Given the description of an element on the screen output the (x, y) to click on. 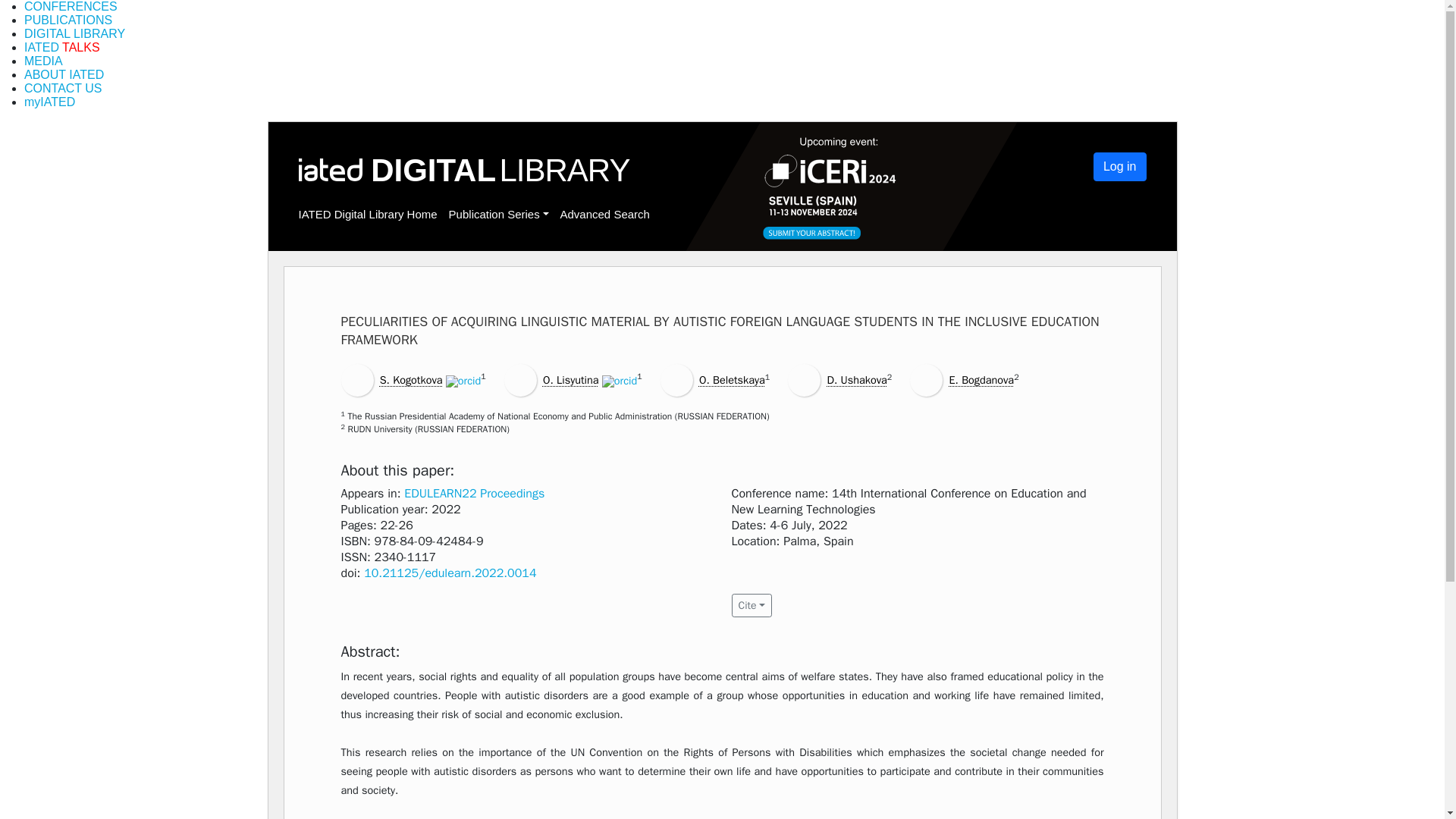
MEDIA (43, 60)
ABOUT IATED (63, 74)
O. Lisyutina (570, 379)
Publication Series (498, 214)
IATED TALKS (62, 47)
CONFERENCES (70, 6)
Log in (1120, 166)
Cite (750, 605)
CONTACT US (62, 88)
Advanced Search (604, 214)
orcid:0000-0002-8890-1350 (619, 381)
S. Kogotkova (411, 379)
doi (449, 572)
myIATED (49, 101)
PUBLICATIONS (68, 19)
